Given the description of an element on the screen output the (x, y) to click on. 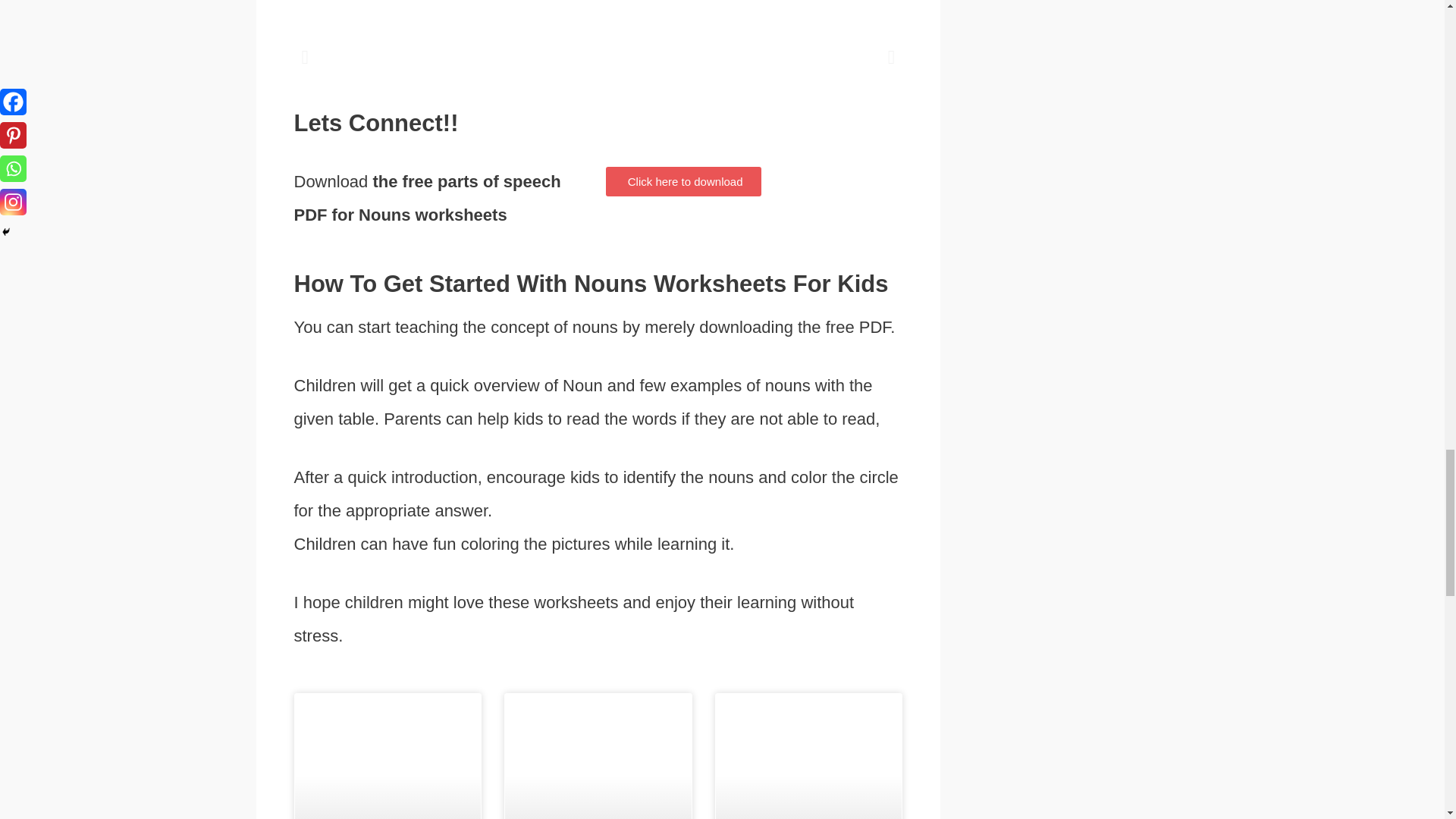
Click here to download (683, 181)
